Given the description of an element on the screen output the (x, y) to click on. 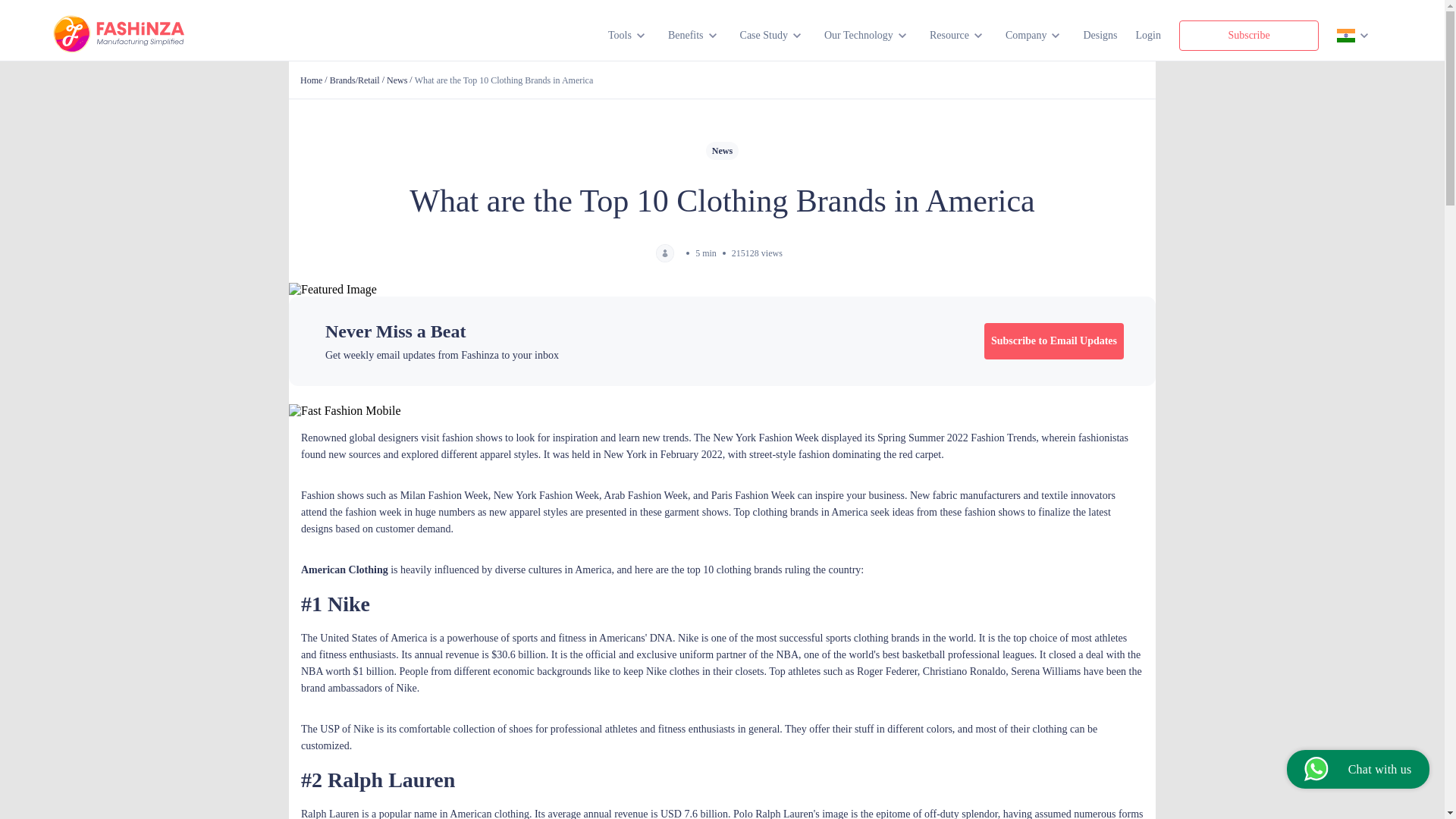
Login (1147, 35)
Subscribe to Email Updates (1054, 340)
Subscribe (1249, 35)
News (397, 80)
Home (310, 80)
Designs (1099, 35)
